Given the description of an element on the screen output the (x, y) to click on. 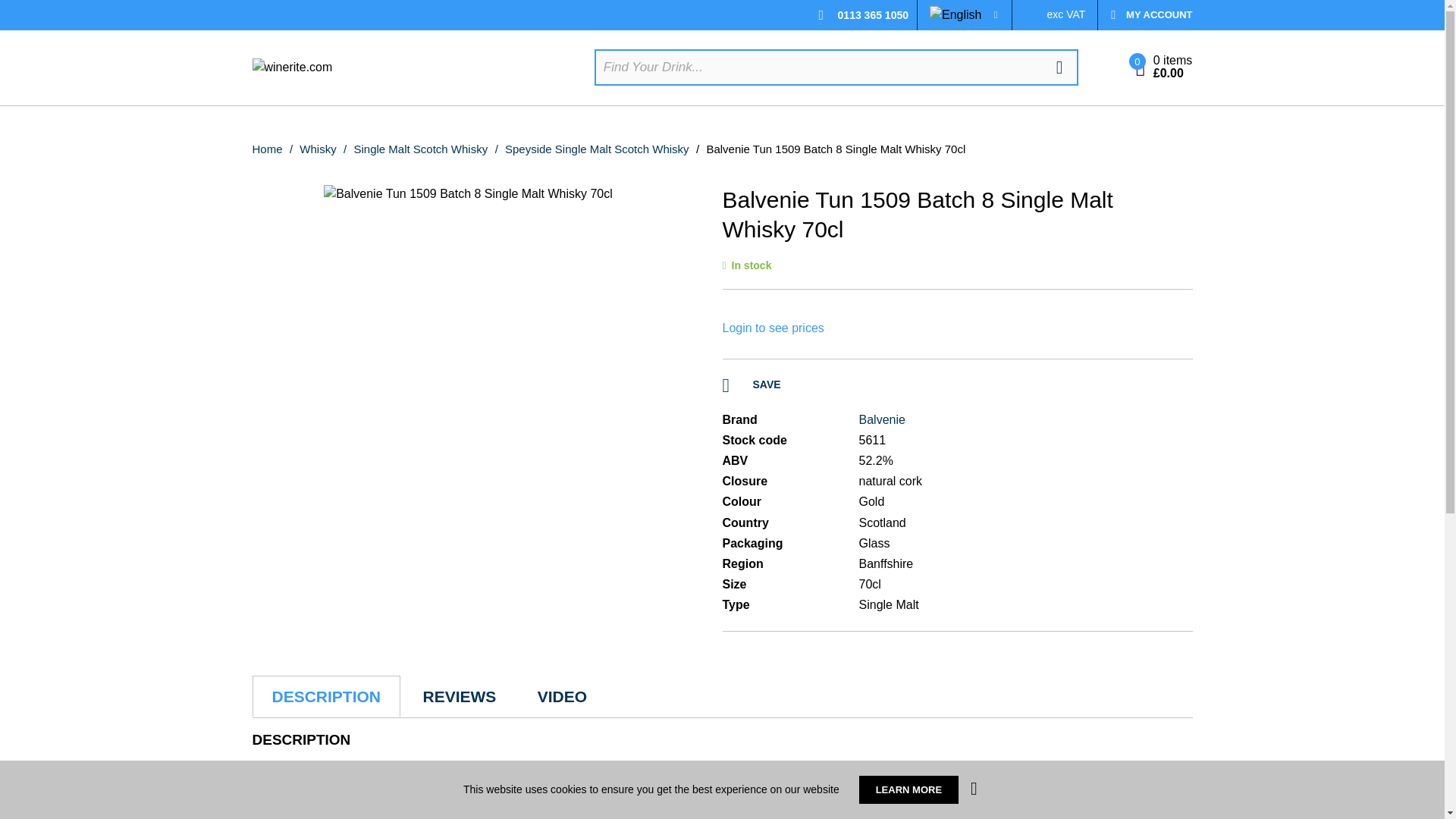
Balvenie (881, 419)
0113 365 1050 (873, 15)
MY ACCOUNT (1144, 15)
English (955, 14)
Balvenie Tun 1509 Batch 8 Single Malt Whisky 70cl (467, 194)
